Given the description of an element on the screen output the (x, y) to click on. 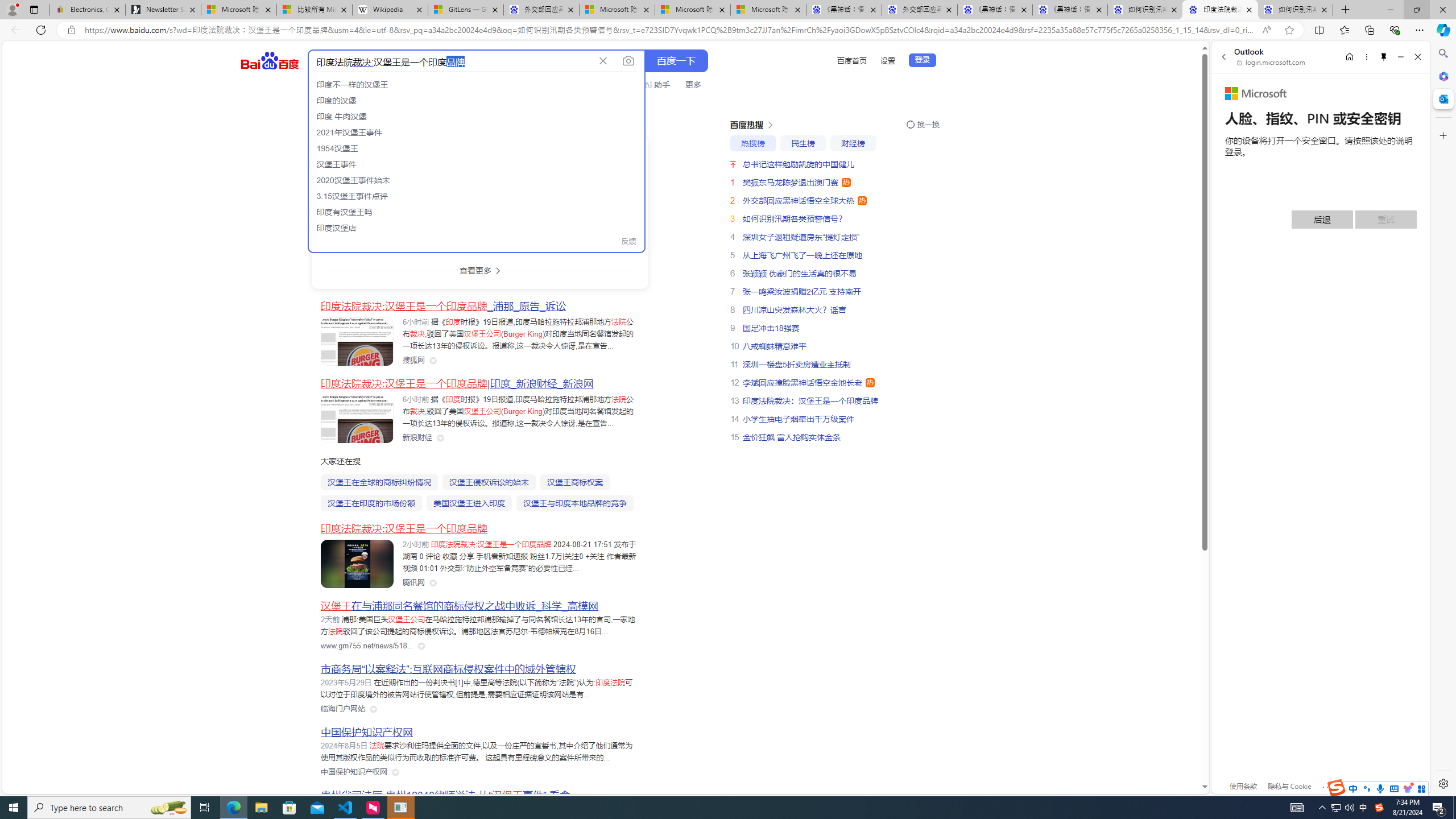
login.microsoft.com (1271, 61)
